Given the description of an element on the screen output the (x, y) to click on. 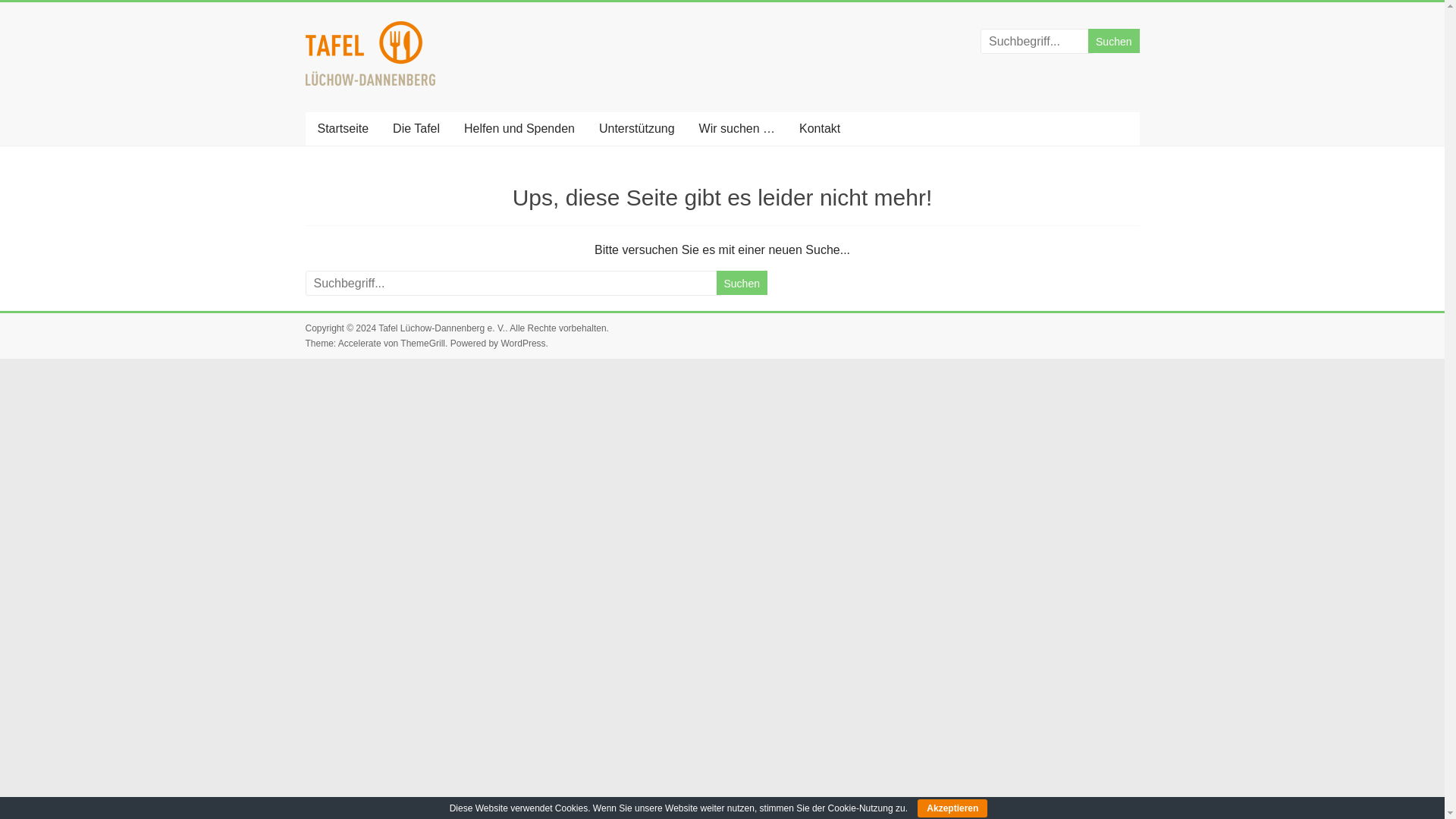
Accelerate (359, 343)
Helfen und Spenden (518, 128)
Suchen (1112, 40)
Suchen (1112, 40)
Startseite (342, 128)
Accelerate (359, 343)
Kontakt (819, 128)
Suchen (741, 282)
Suchen (741, 282)
WordPress (522, 343)
